Given the description of an element on the screen output the (x, y) to click on. 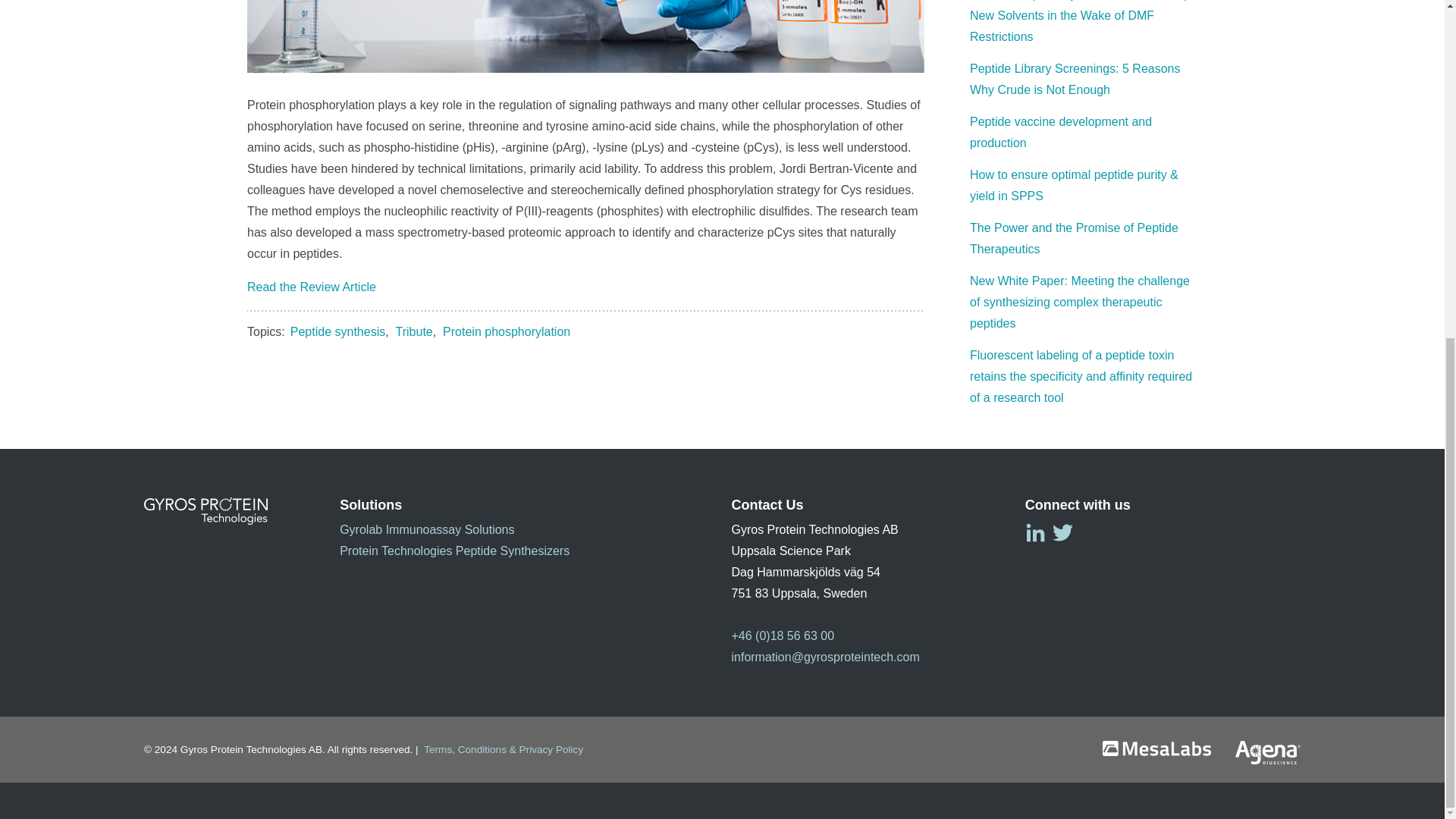
Follow us on Twitter (1062, 532)
gyros (205, 510)
Follow us on LinkedIn (1035, 532)
